Given the description of an element on the screen output the (x, y) to click on. 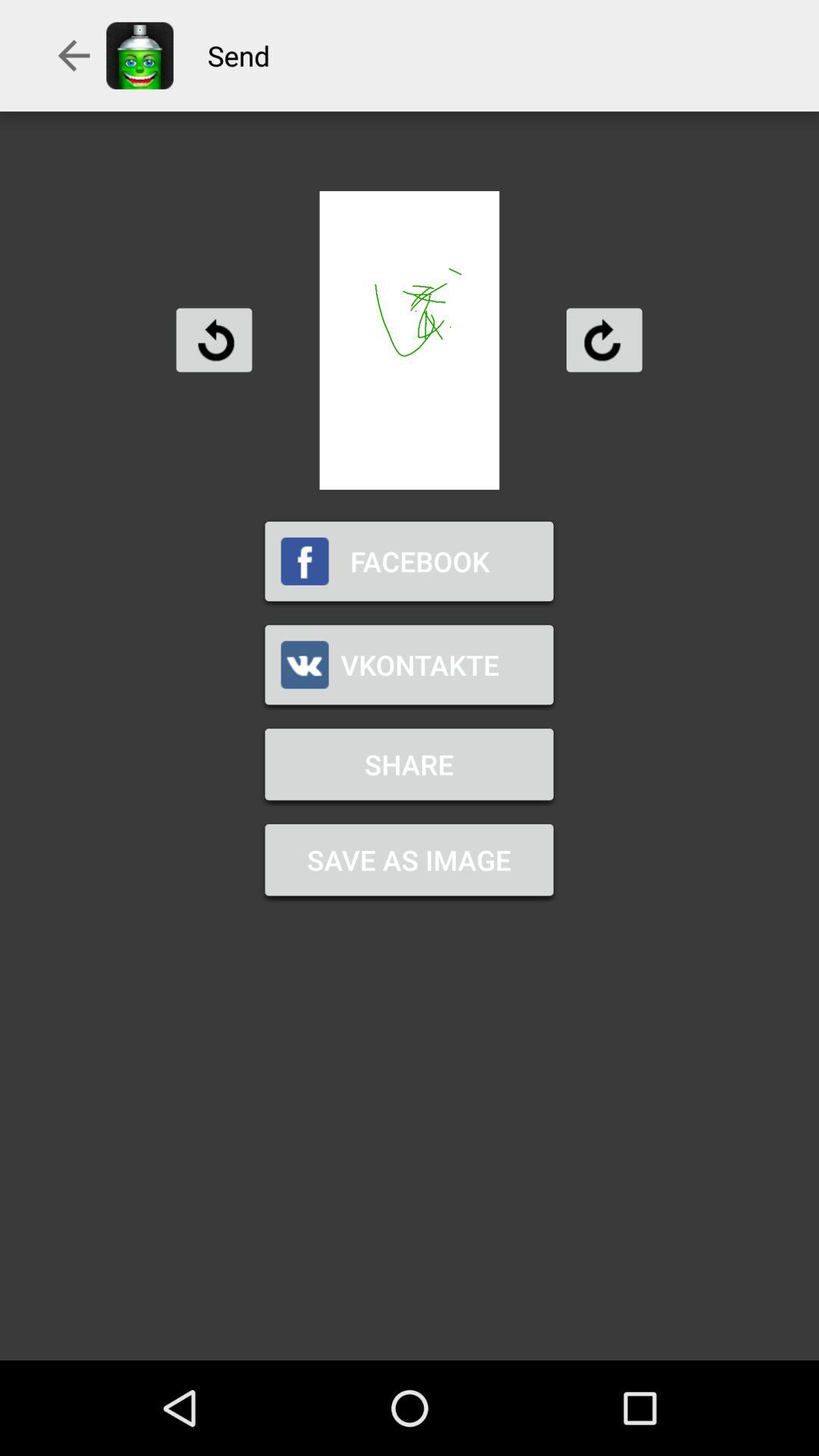
rotate to the left (213, 339)
